Given the description of an element on the screen output the (x, y) to click on. 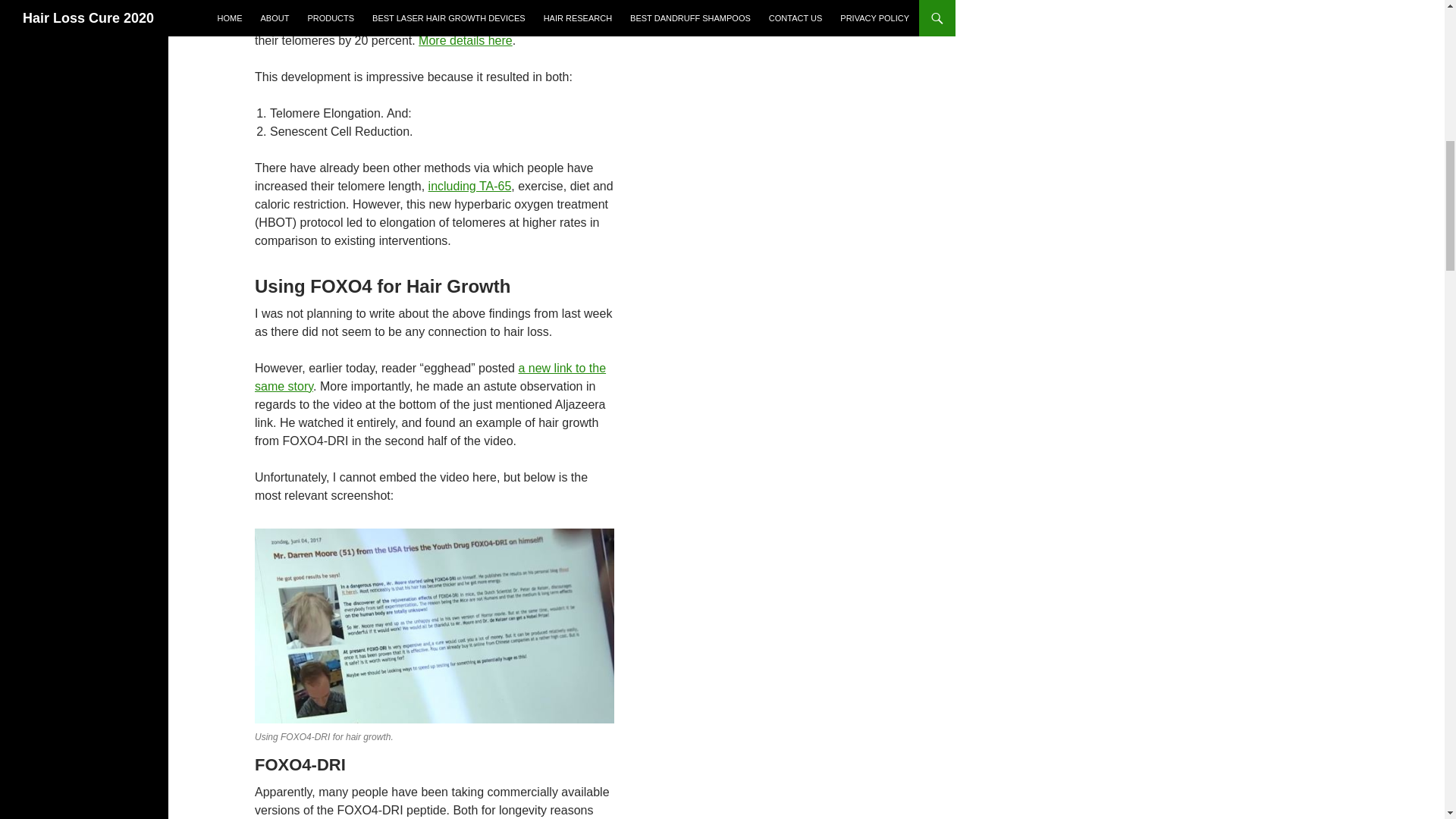
including TA-65 (470, 185)
a new link to the same story (429, 377)
while in a hyperbaric chamber (405, 21)
More details here (465, 40)
